Given the description of an element on the screen output the (x, y) to click on. 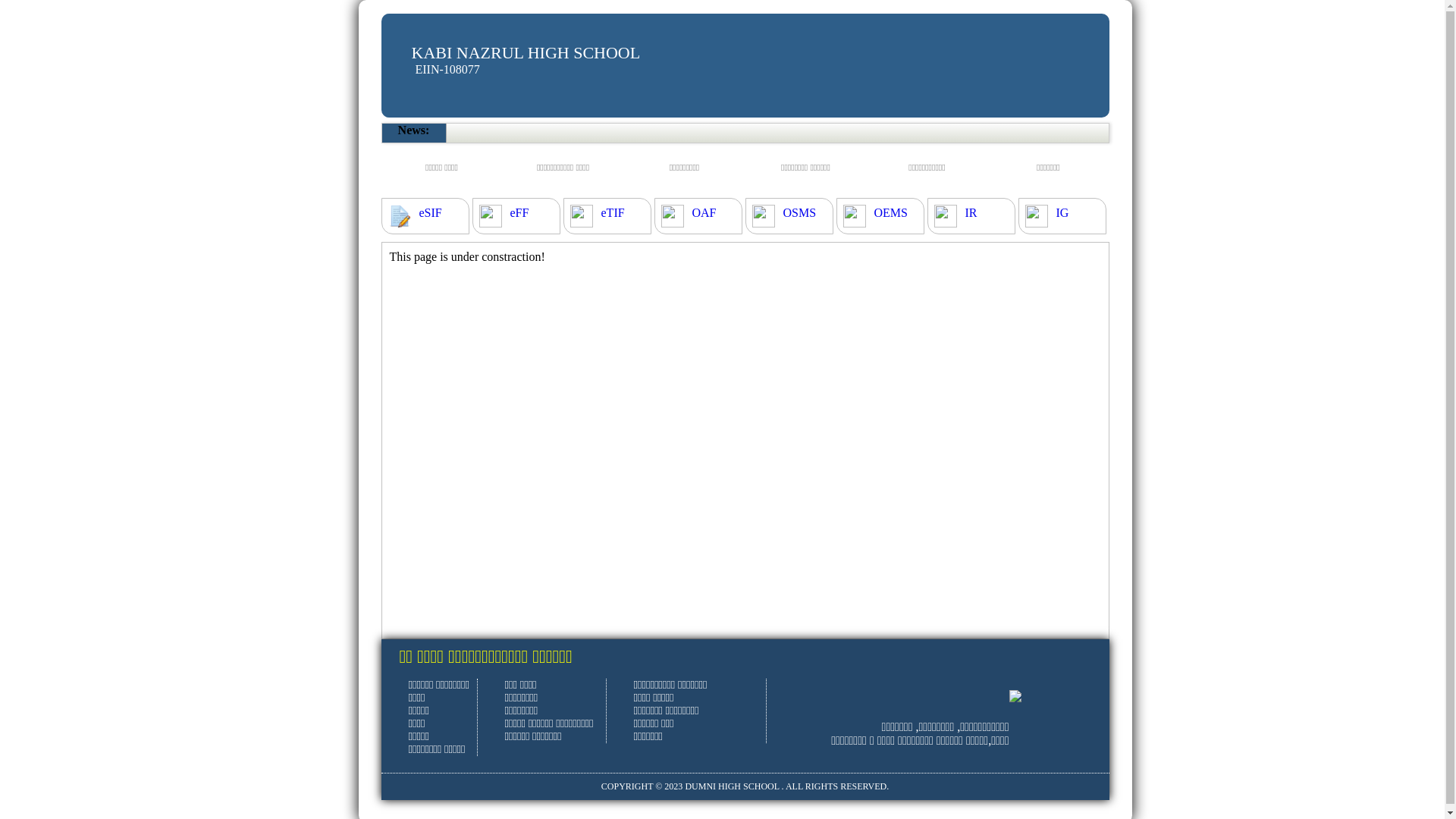
eTIF Element type: text (612, 212)
eSIF Element type: text (429, 212)
DUMNI HIGH SCHOOL Element type: text (731, 786)
IR Element type: text (970, 212)
OAF Element type: text (703, 212)
IG Element type: text (1061, 212)
OSMS Element type: text (798, 212)
eFF Element type: text (518, 212)
OEMS Element type: text (889, 212)
